Given the description of an element on the screen output the (x, y) to click on. 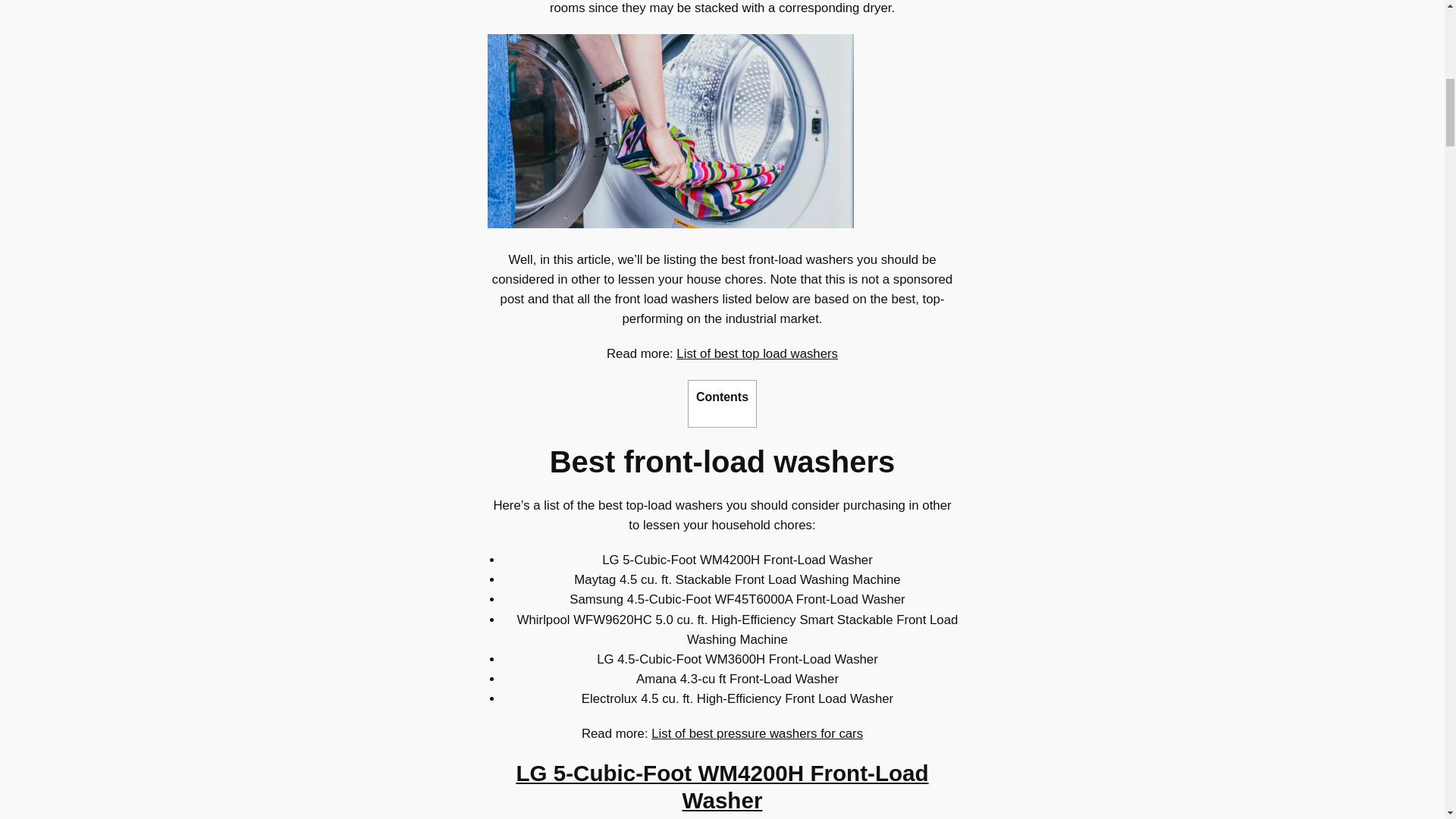
List of best pressure washers for cars (756, 733)
List of best top load washers (757, 353)
LG 5-Cubic-Foot WM4200H Front-Load Washer (721, 786)
